Given the description of an element on the screen output the (x, y) to click on. 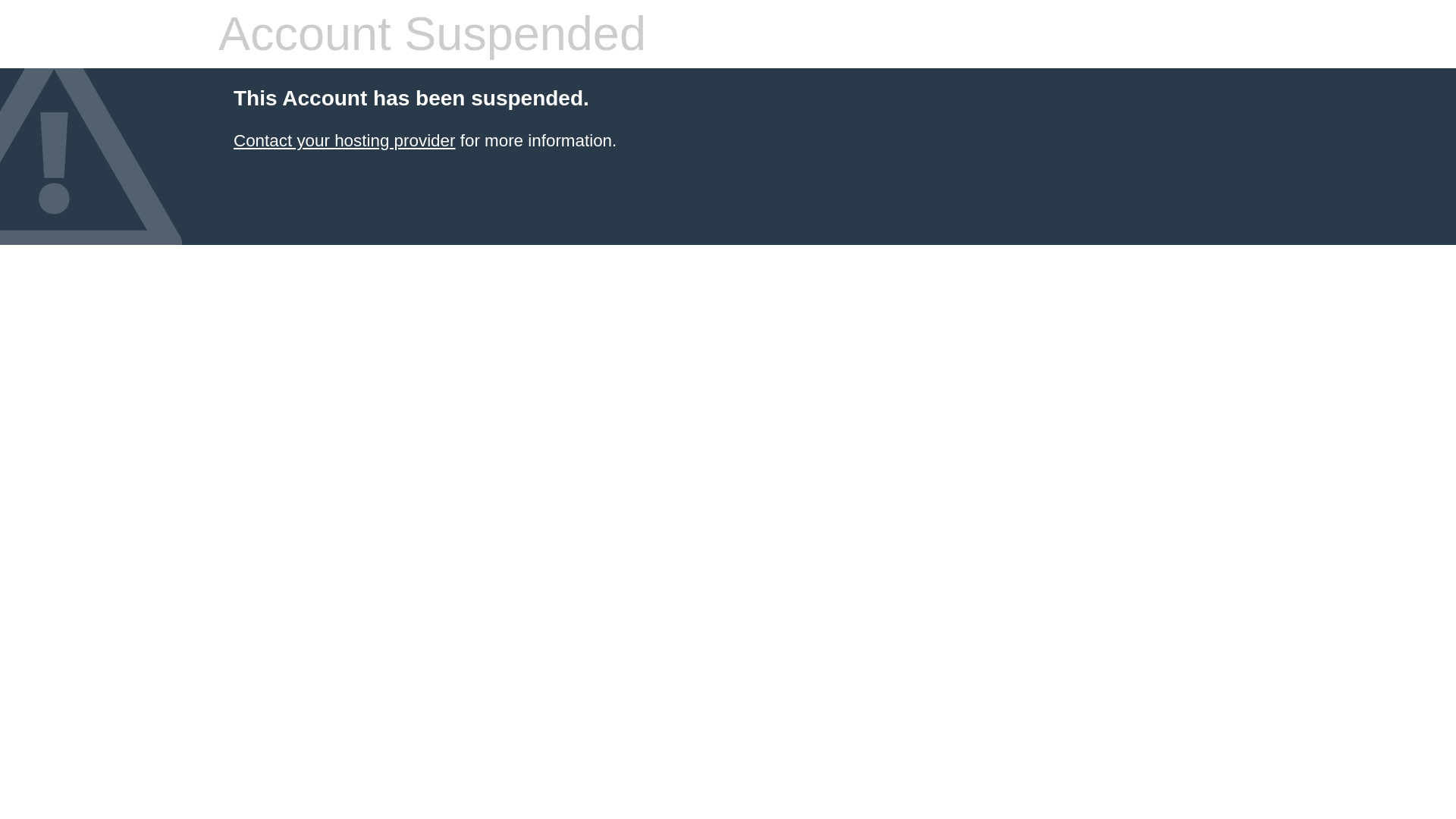
Contact your hosting provider (343, 140)
